Given the description of an element on the screen output the (x, y) to click on. 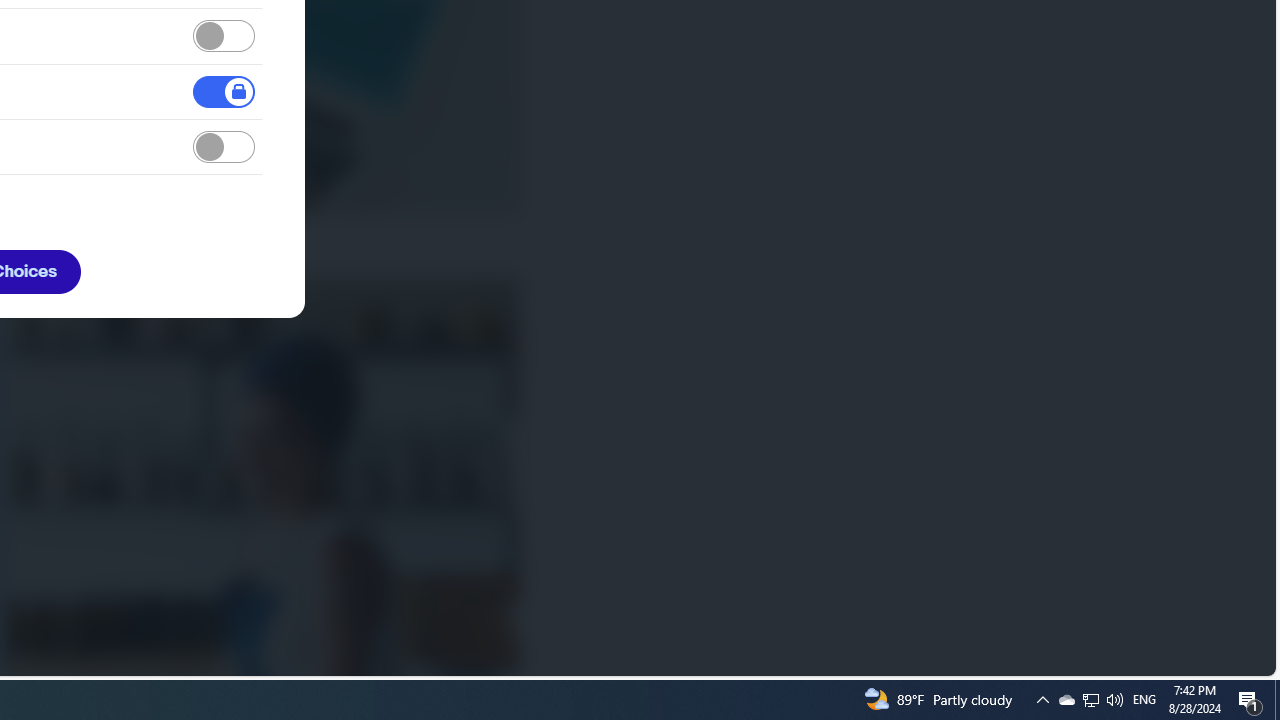
Performance Cookies (223, 36)
Targeting Cookies (223, 147)
